Given the description of an element on the screen output the (x, y) to click on. 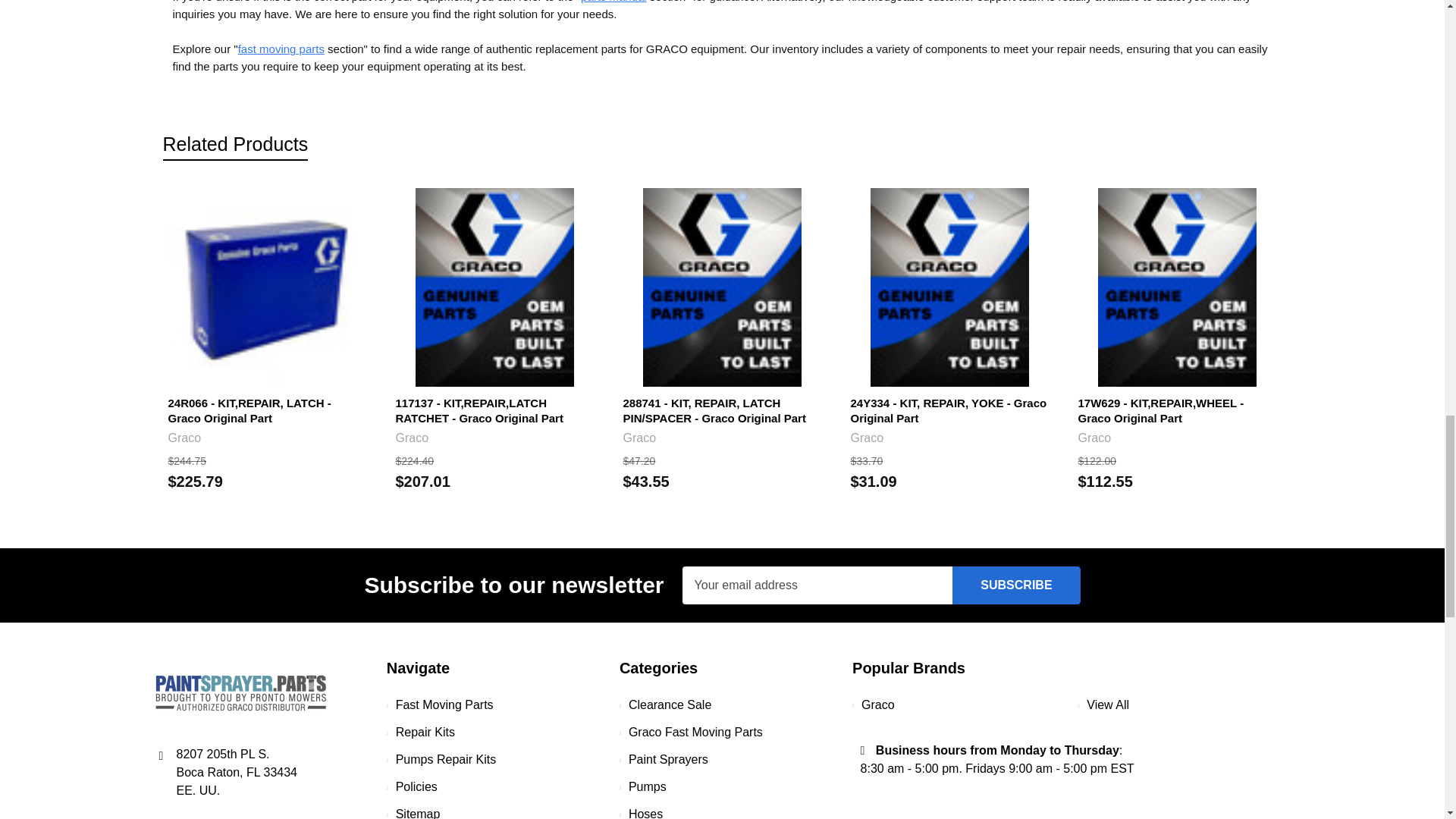
24Y334 - KIT REPAIR YOKE - Graco Original Part - Image 1 (949, 287)
Paintsprayer Parts (239, 692)
Subscribe (1016, 585)
17W629 - KIT REPAIR WHEEL - Graco Original Part - Image 1 (1177, 287)
24R066 - KIT,REPAIR, LATCH - Graco Original Part (267, 287)
